Given the description of an element on the screen output the (x, y) to click on. 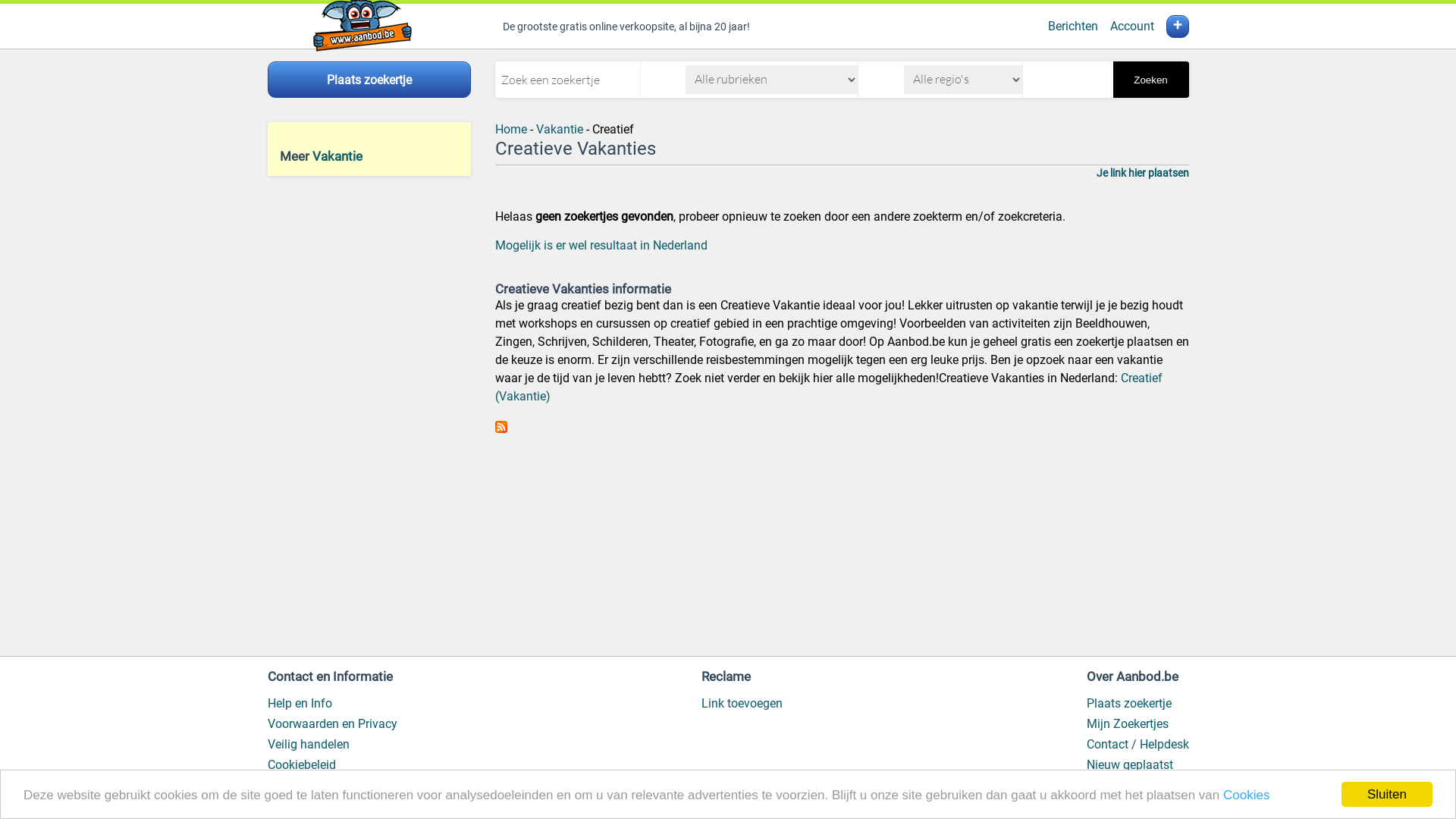
Link toevoegen Element type: text (740, 703)
Mogelijk is er wel resultaat in Nederland Element type: text (600, 245)
RSS - Creatief Element type: hover (500, 428)
Cookiebeleid Element type: text (300, 764)
Berichten Element type: text (1073, 25)
Voorwaarden en Privacy Element type: text (331, 723)
Nieuw geplaatst Element type: text (1128, 764)
Sluiten Element type: text (1386, 793)
Mijn Zoekertjes Element type: text (1126, 723)
Cookies Element type: text (1246, 794)
vi@net Element type: text (368, 799)
Account Element type: text (1132, 25)
Je link hier plaatsen Element type: text (1142, 172)
Contact / Helpdesk Element type: text (1136, 744)
Plaats zoekertje Element type: text (1127, 703)
Plaats zoekertje Element type: text (368, 79)
Zoeken Element type: text (1151, 79)
Help en Info Element type: text (298, 703)
+ Element type: text (1177, 26)
Vakantie Element type: text (558, 129)
Creatief (Vakantie) Element type: text (827, 386)
Vakantie Element type: text (337, 155)
Veilig handelen Element type: text (307, 744)
Home Element type: text (510, 129)
